Given the description of an element on the screen output the (x, y) to click on. 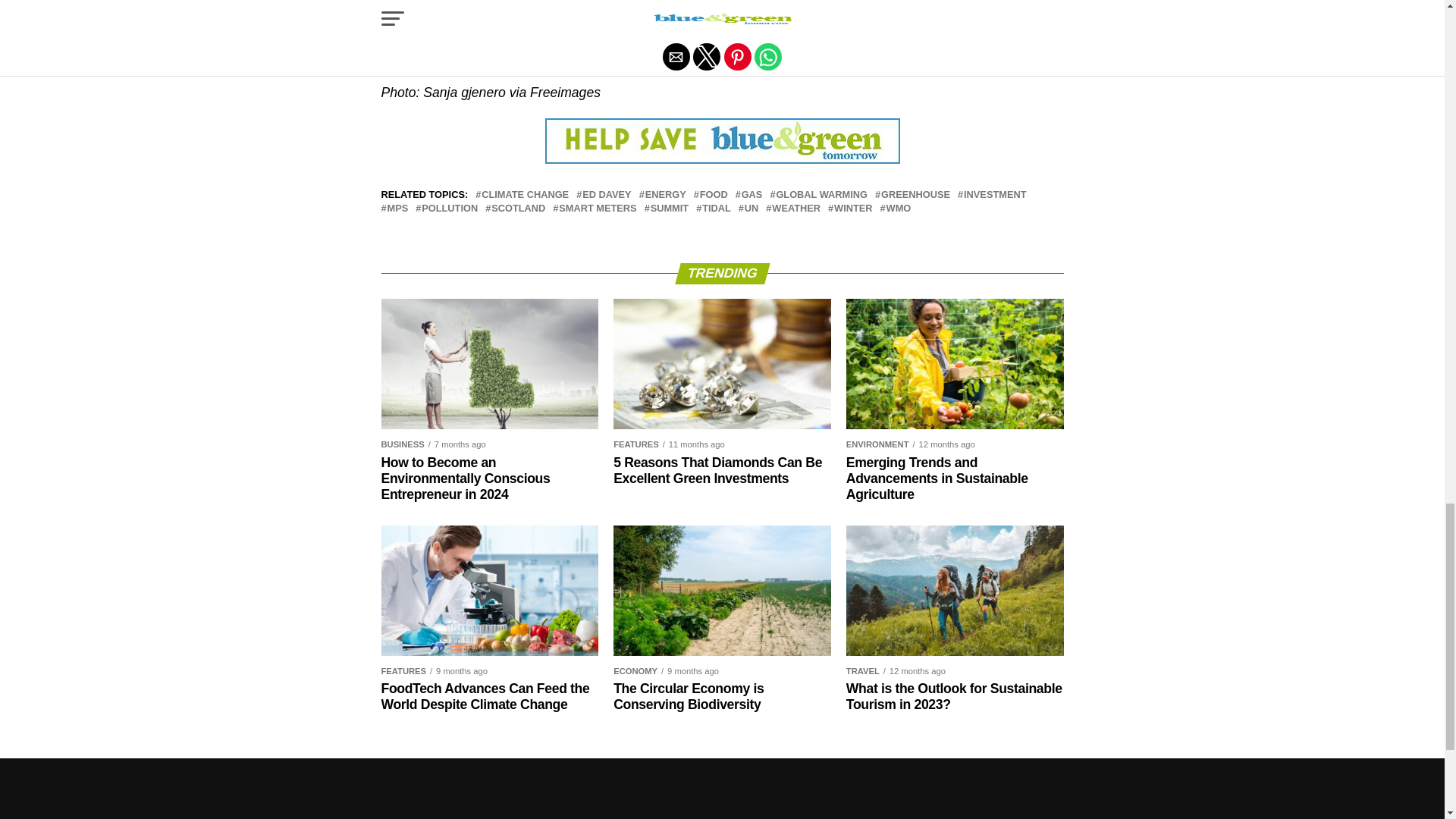
SMART METERS (597, 208)
WMO (898, 208)
UN (751, 208)
POLLUTION (449, 208)
SCOTLAND (518, 208)
GREENHOUSE (915, 194)
INVESTMENT (994, 194)
Fight deforestation, fight climate change (498, 56)
ED DAVEY (606, 194)
SUMMIT (669, 208)
MPS (397, 208)
GLOBAL WARMING (821, 194)
FOOD (714, 194)
ENERGY (665, 194)
Save BGT banner-ad 2 (721, 140)
